Given the description of an element on the screen output the (x, y) to click on. 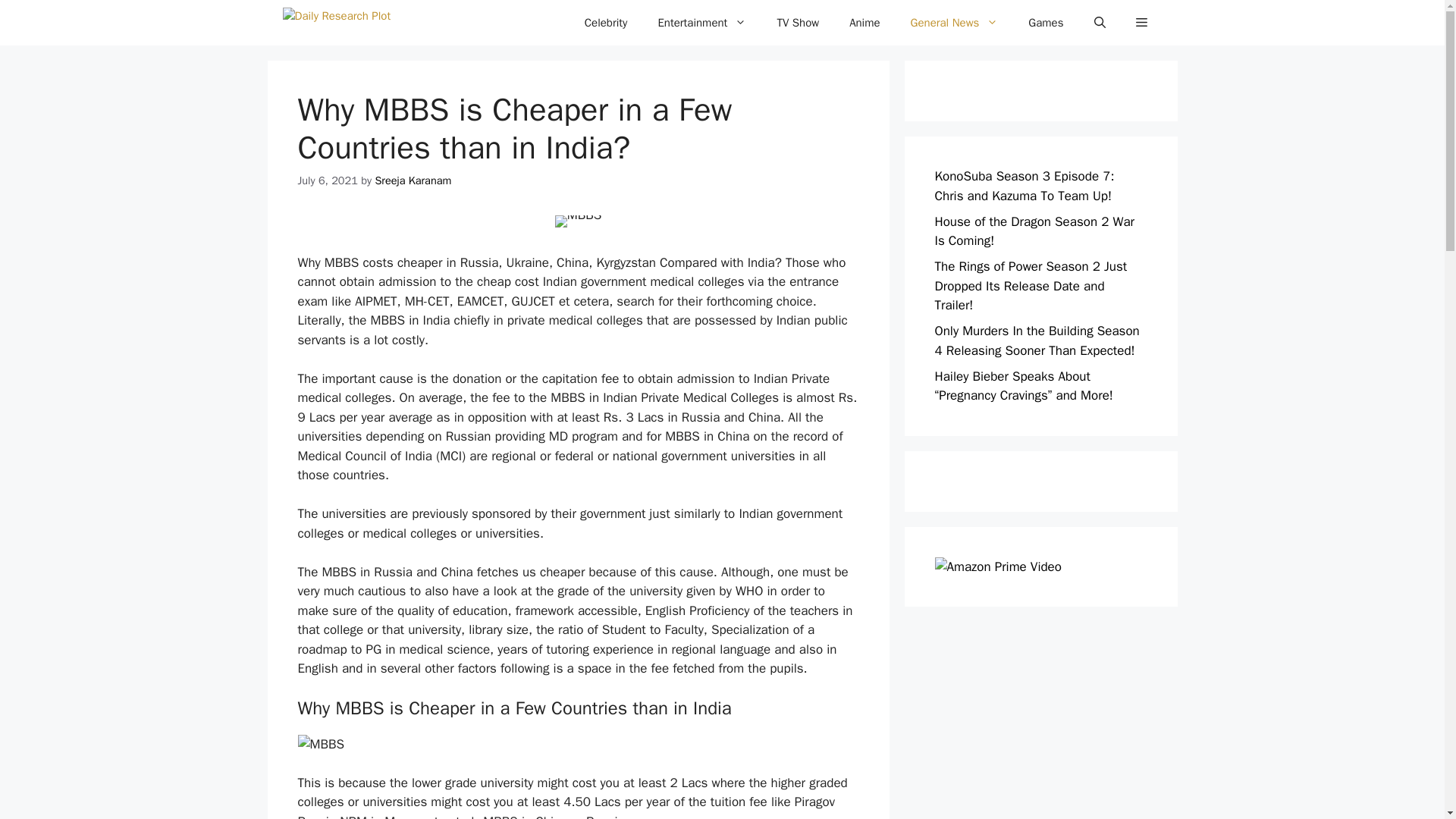
View all posts by Sreeja Karanam (412, 180)
Sreeja Karanam (412, 180)
Games (1045, 22)
Daily Research Plot (336, 22)
Anime (864, 22)
Celebrity (606, 22)
TV Show (797, 22)
General News (954, 22)
Entertainment (701, 22)
